Given the description of an element on the screen output the (x, y) to click on. 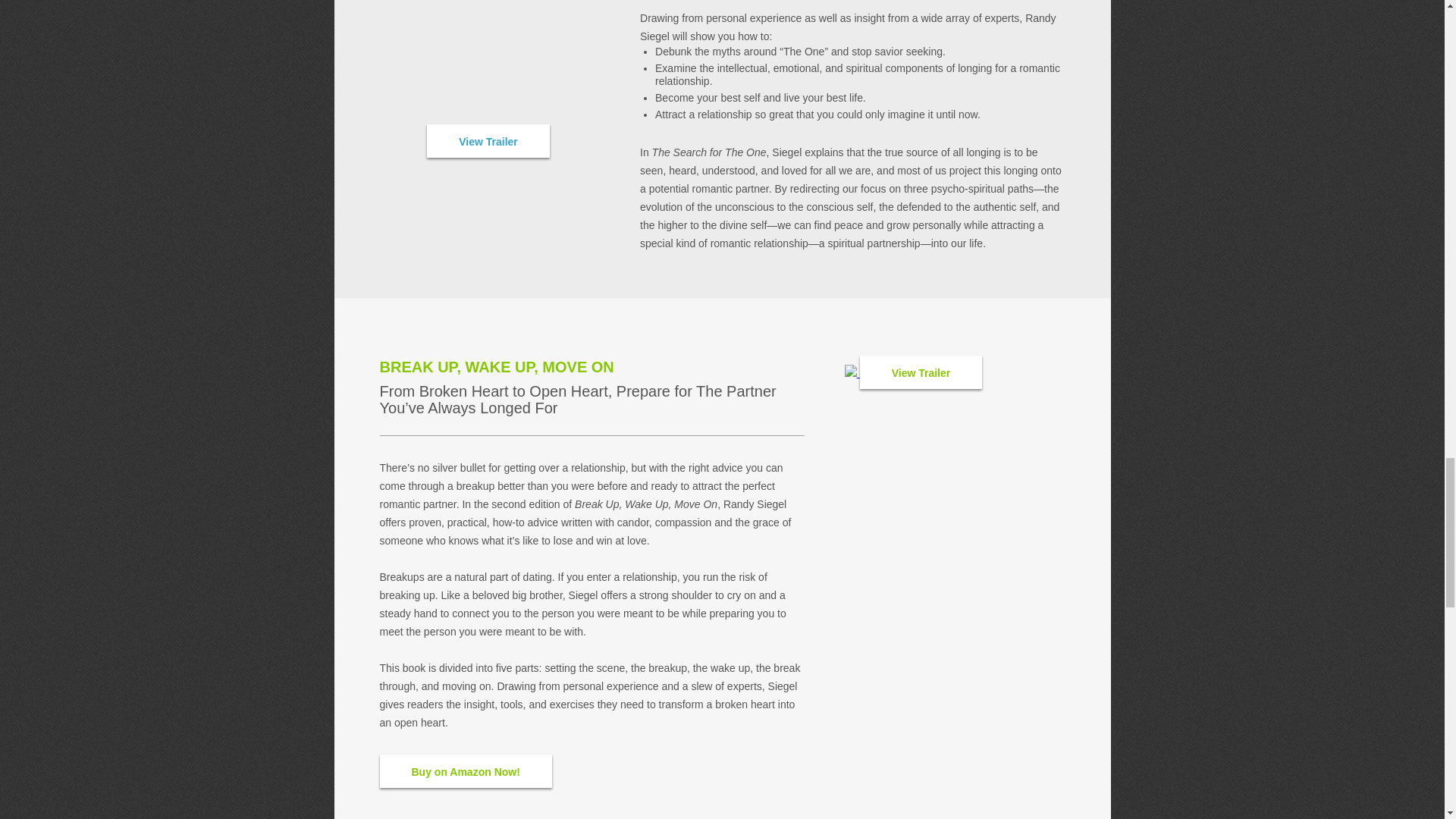
View Trailer (921, 372)
View Trailer (488, 141)
Buy on Amazon Now! (464, 770)
